Given the description of an element on the screen output the (x, y) to click on. 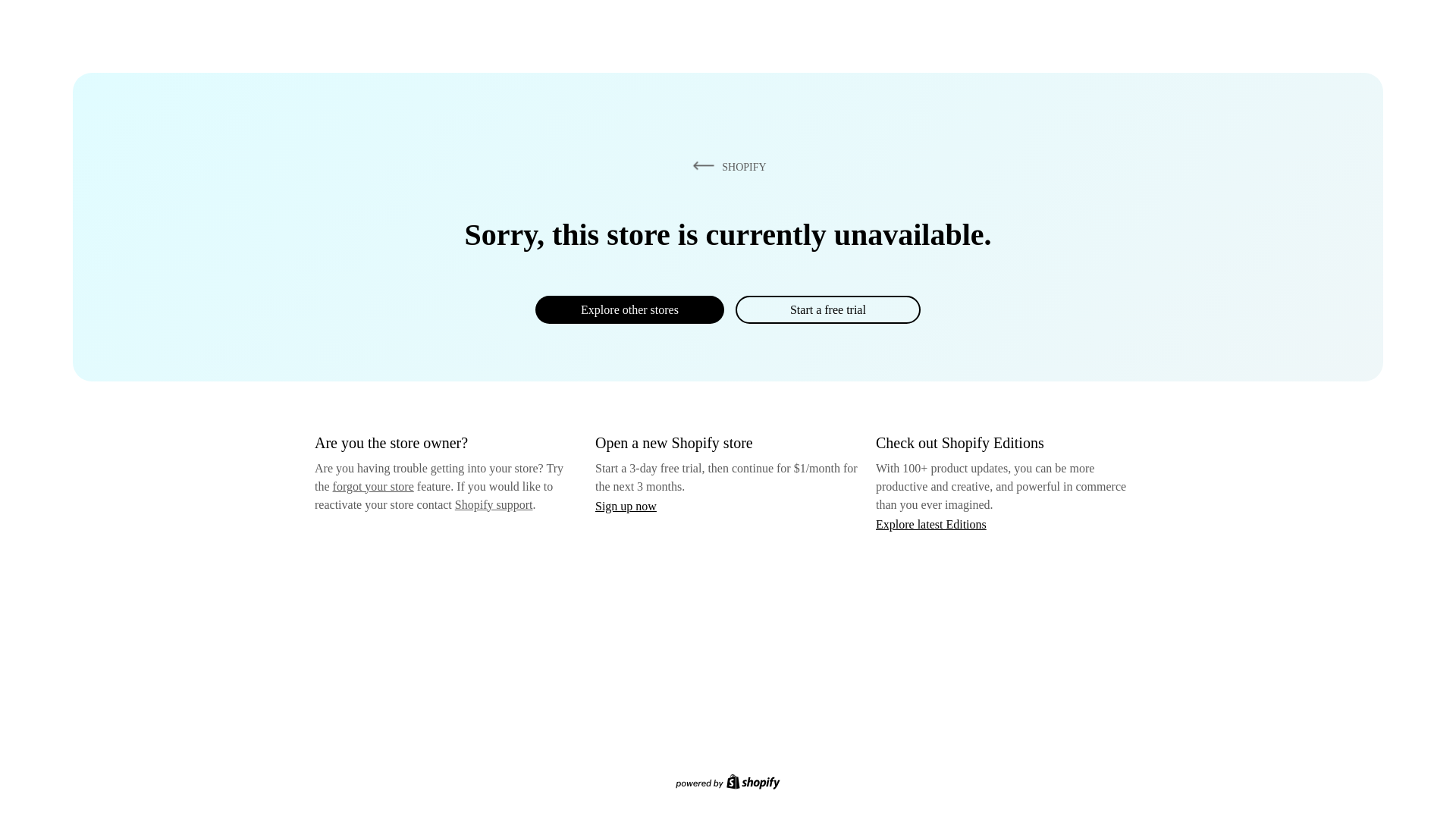
Explore latest Editions (931, 523)
forgot your store (373, 486)
SHOPIFY (726, 166)
Explore other stores (629, 309)
Sign up now (625, 505)
Start a free trial (827, 309)
Shopify support (493, 504)
